Given the description of an element on the screen output the (x, y) to click on. 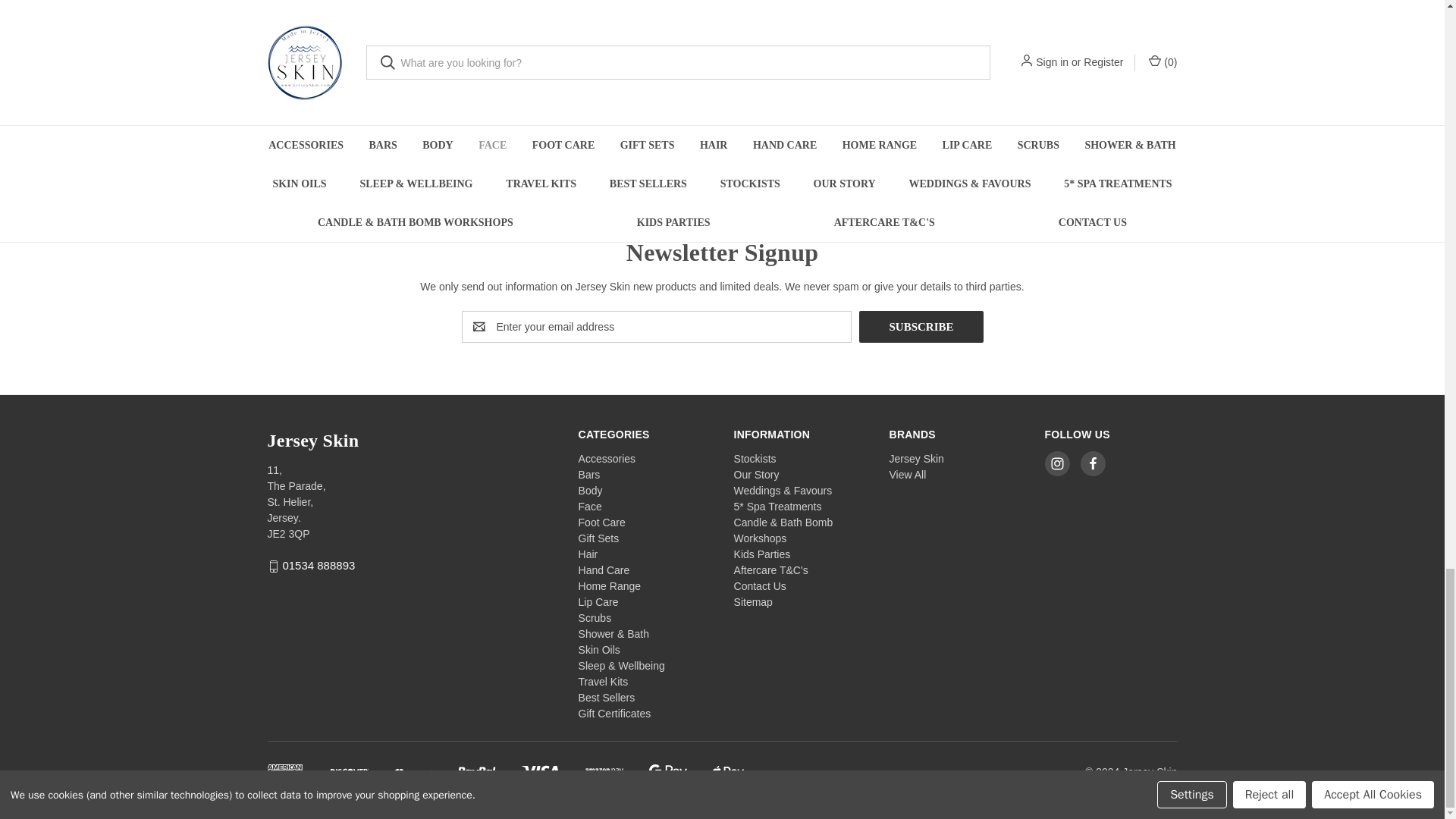
Subscribe (920, 327)
